Given the description of an element on the screen output the (x, y) to click on. 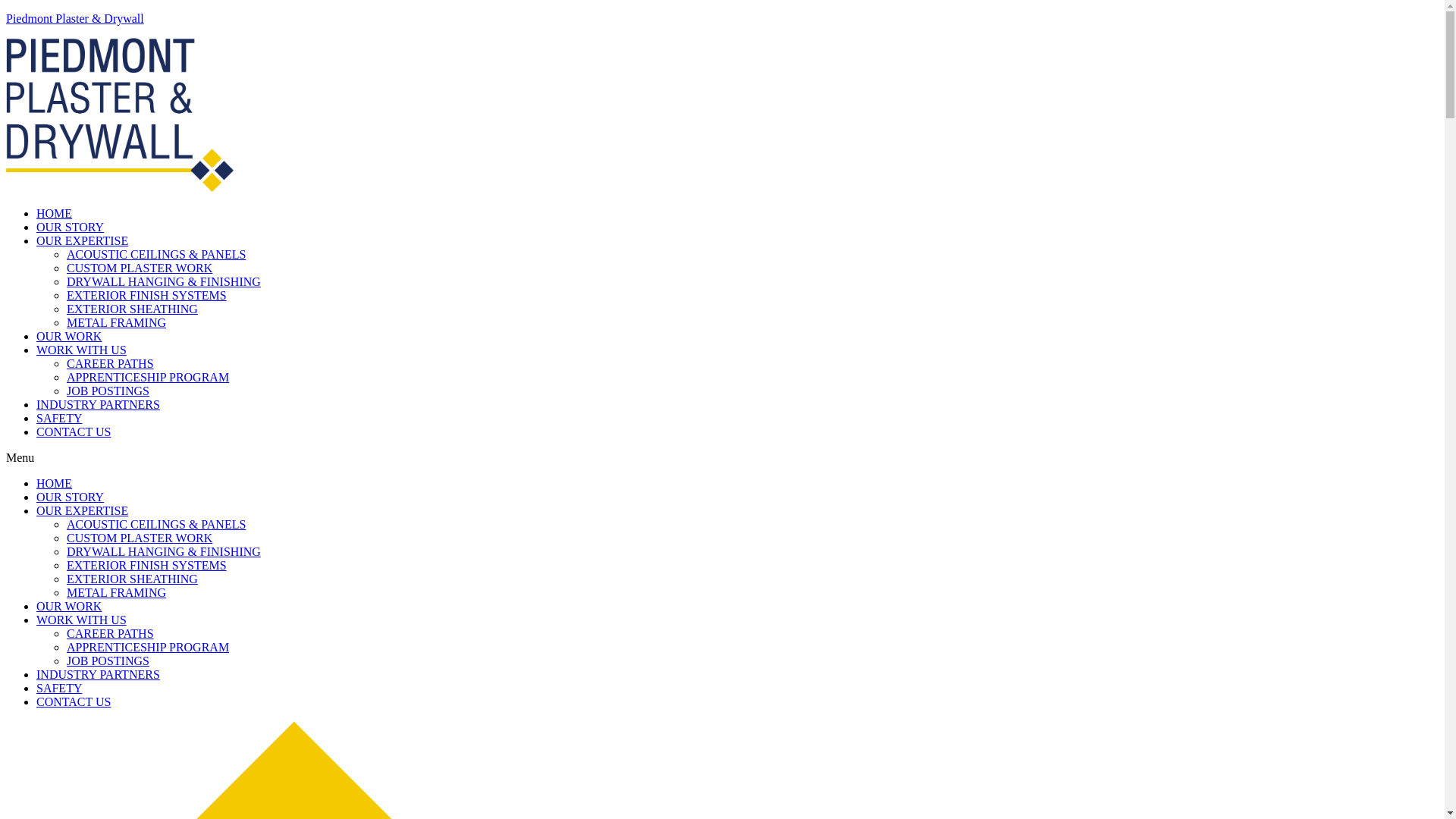
INDUSTRY PARTNERS Element type: text (98, 404)
ACOUSTIC CEILINGS & PANELS Element type: text (155, 253)
CONTACT US Element type: text (73, 431)
EXTERIOR FINISH SYSTEMS Element type: text (146, 294)
METAL FRAMING Element type: text (116, 322)
EXTERIOR FINISH SYSTEMS Element type: text (146, 564)
JOB POSTINGS Element type: text (107, 390)
CUSTOM PLASTER WORK Element type: text (139, 267)
OUR EXPERTISE Element type: text (82, 510)
OUR EXPERTISE Element type: text (82, 240)
JOB POSTINGS Element type: text (107, 660)
CUSTOM PLASTER WORK Element type: text (139, 537)
OUR STORY Element type: text (69, 226)
HOME Element type: text (54, 213)
SAFETY Element type: text (58, 417)
DRYWALL HANGING & FINISHING Element type: text (163, 281)
INDUSTRY PARTNERS Element type: text (98, 674)
CONTACT US Element type: text (73, 701)
APPRENTICESHIP PROGRAM Element type: text (147, 646)
OUR STORY Element type: text (69, 496)
Piedmont Plaster & Drywall Element type: text (75, 18)
EXTERIOR SHEATHING Element type: text (131, 578)
HOME Element type: text (54, 482)
SAFETY Element type: text (58, 687)
WORK WITH US Element type: text (81, 349)
DRYWALL HANGING & FINISHING Element type: text (163, 551)
CAREER PATHS Element type: text (109, 363)
ACOUSTIC CEILINGS & PANELS Element type: text (155, 523)
EXTERIOR SHEATHING Element type: text (131, 308)
CAREER PATHS Element type: text (109, 633)
WORK WITH US Element type: text (81, 619)
OUR WORK Element type: text (68, 605)
APPRENTICESHIP PROGRAM Element type: text (147, 376)
OUR WORK Element type: text (68, 335)
METAL FRAMING Element type: text (116, 592)
